Given the description of an element on the screen output the (x, y) to click on. 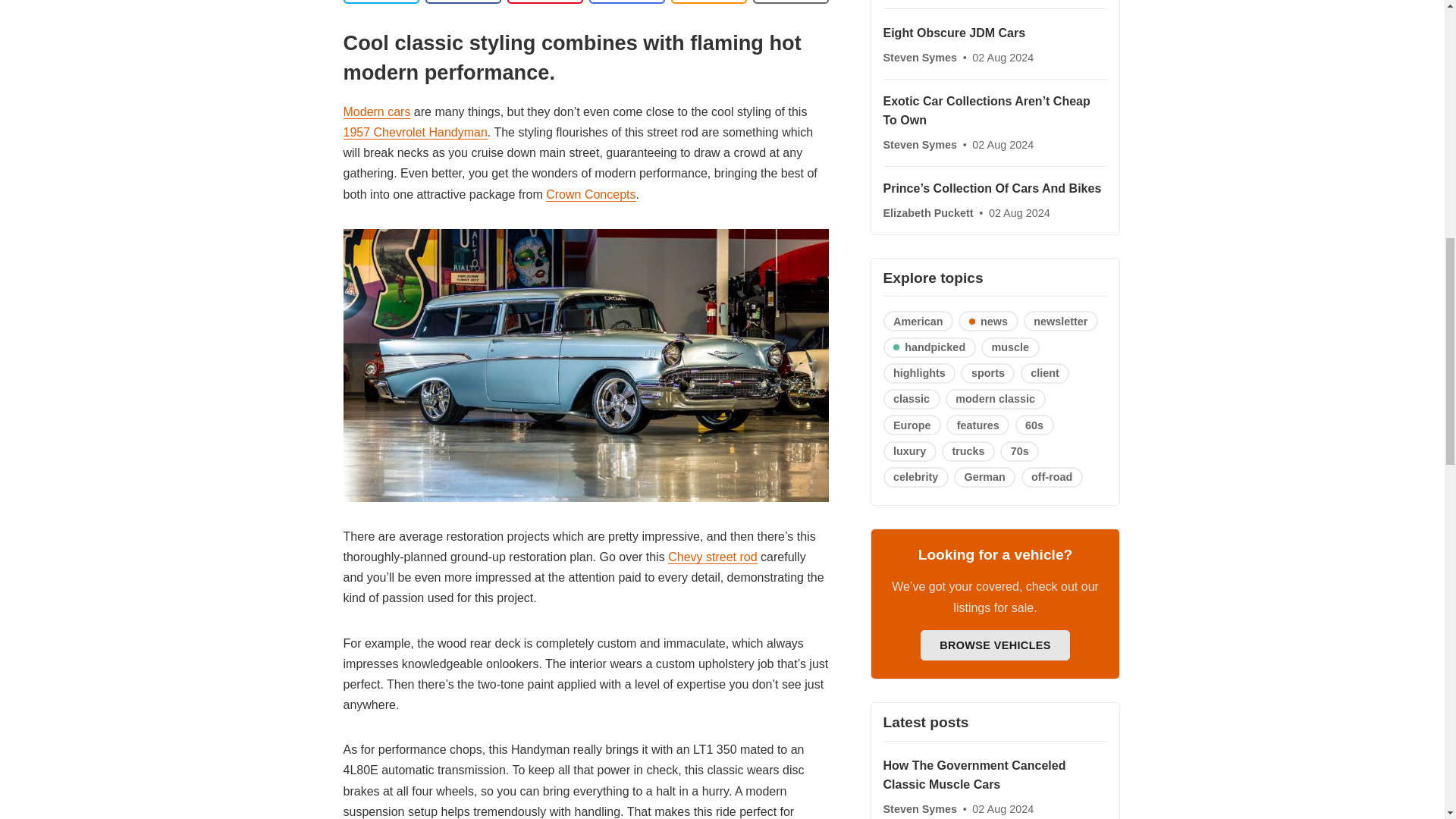
Copy to clipboard (707, 1)
Crown Concepts (590, 194)
Modern cars (376, 111)
1957 Chevrolet Handyman (414, 132)
Share on Twitter (380, 1)
American (917, 321)
news (987, 321)
newsletter (1060, 321)
Bookmark (790, 1)
Share on Facebook (462, 1)
Elizabeth Puckett (928, 213)
Steven Symes (920, 144)
Steven Symes (920, 57)
Share on Linkedin (544, 1)
Share by email (625, 1)
